Given the description of an element on the screen output the (x, y) to click on. 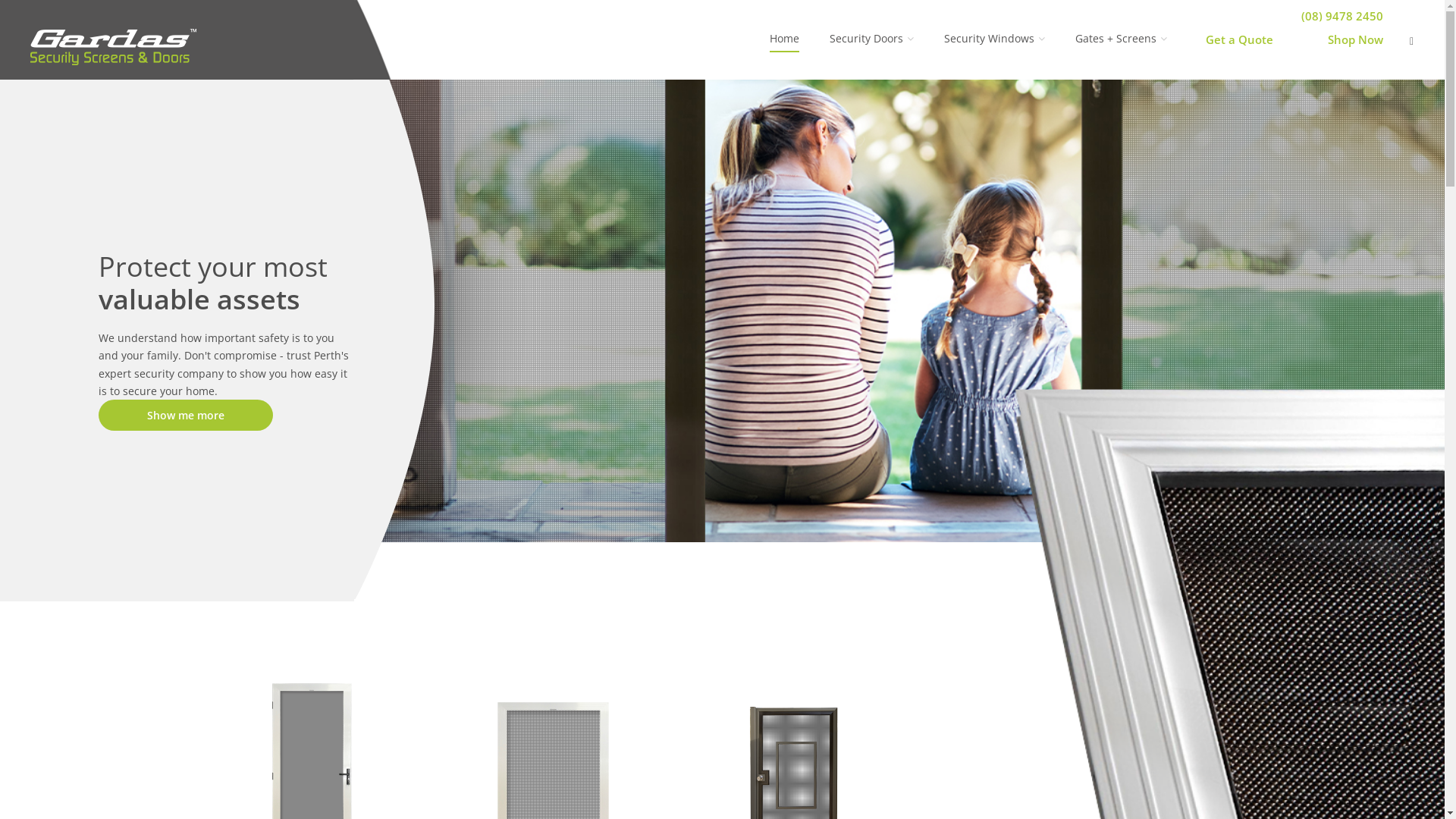
Gardas Logo Element type: text (113, 48)
Show me more Element type: text (185, 414)
Shop Now Element type: text (1351, 38)
Get a Quote Element type: text (1235, 38)
